Given the description of an element on the screen output the (x, y) to click on. 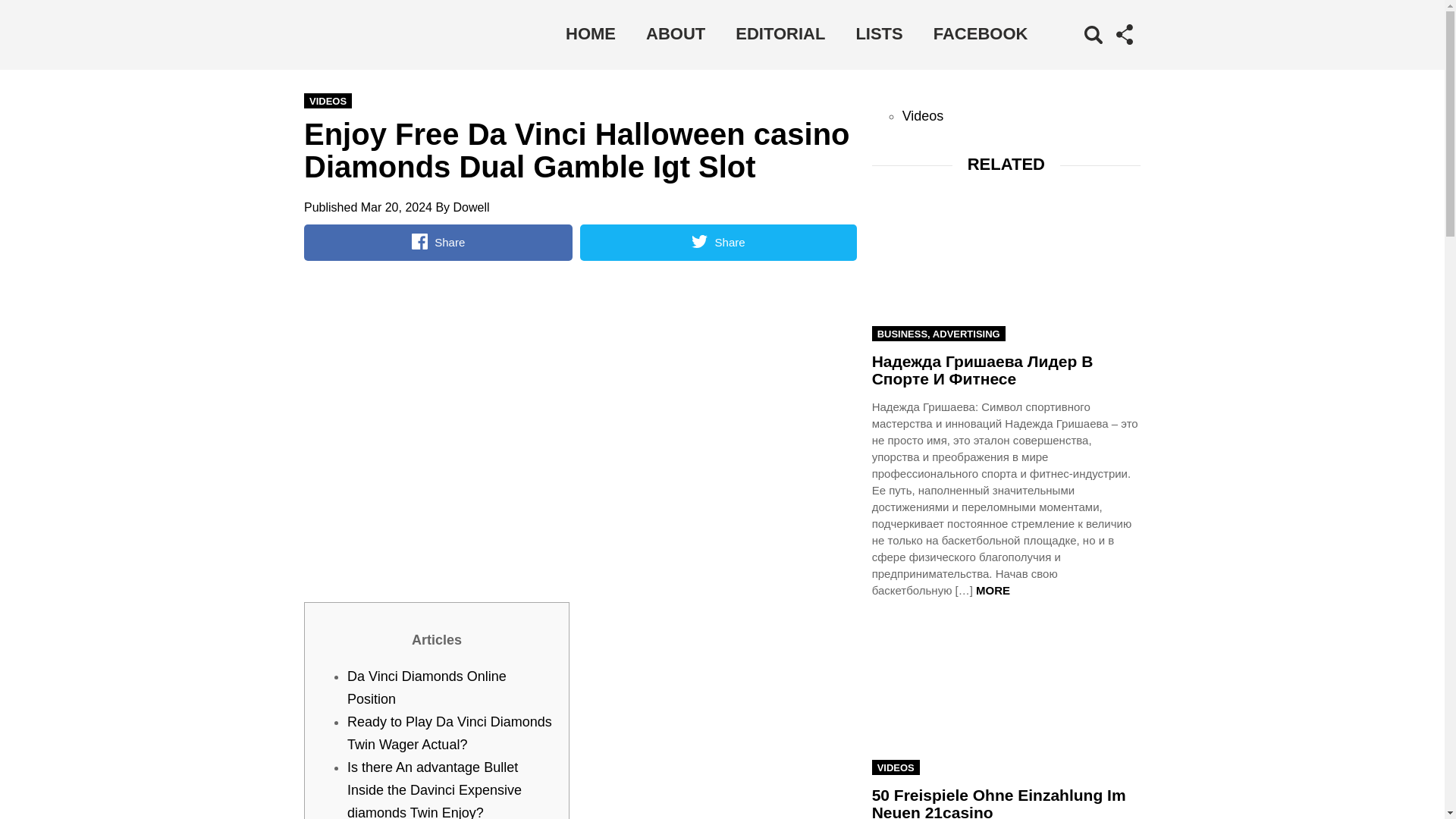
LISTS (878, 33)
Dowell (470, 206)
ABOUT (675, 33)
Search (1071, 55)
EDITORIAL (780, 33)
VIDEOS (896, 767)
Search (1071, 55)
Ready to Play Da Vinci Diamonds Twin Wager Actual? (449, 733)
50 Freispiele Ohne Einzahlung Im Neuen 21casino (998, 802)
Search (1071, 55)
HOME (590, 33)
BUSINESS, ADVERTISING (939, 333)
FACEBOOK (980, 33)
MORE (992, 590)
